Given the description of an element on the screen output the (x, y) to click on. 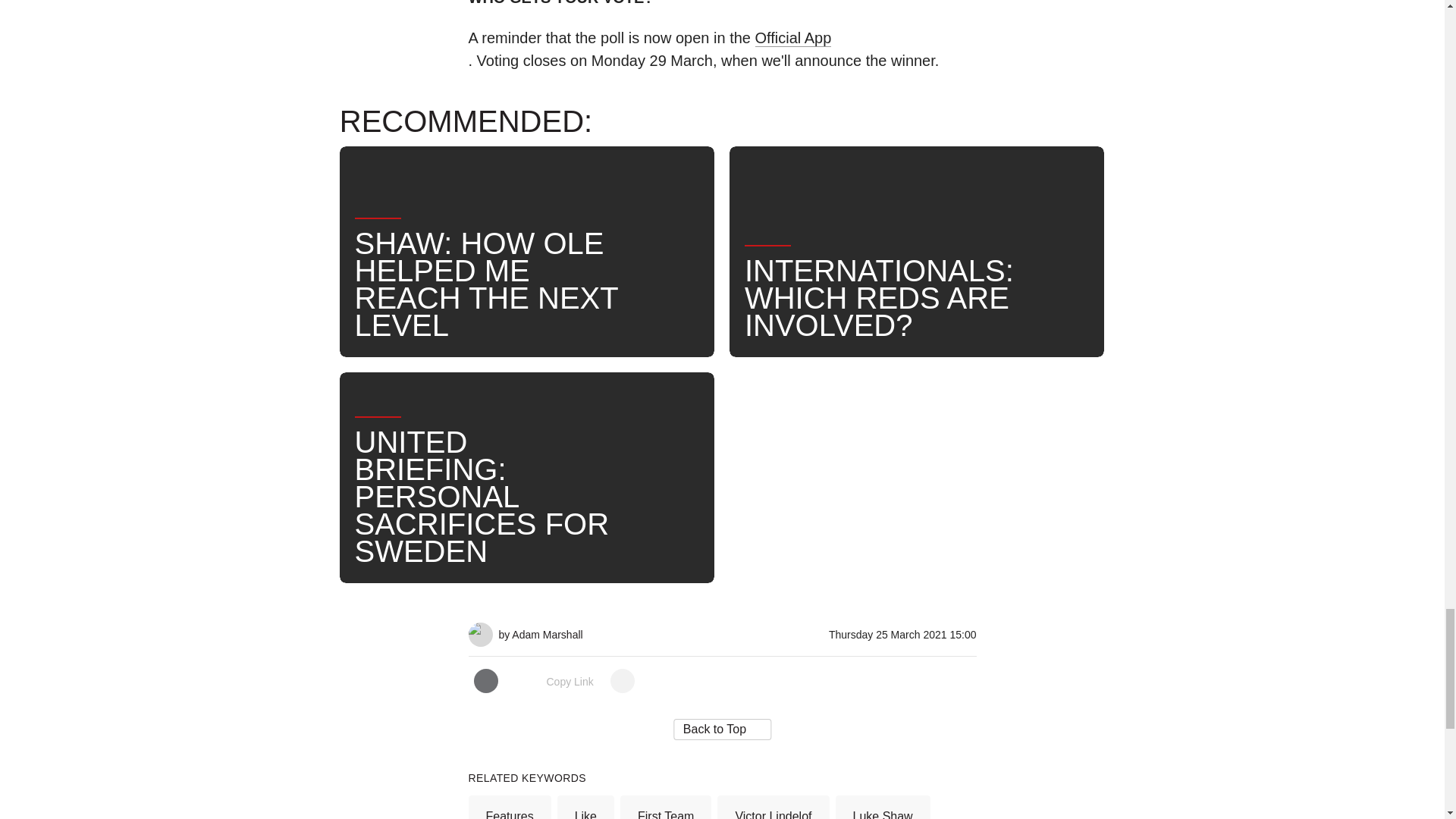
ManUtd.com reporter Adam Marshall at Old Trafford. (480, 628)
